Given the description of an element on the screen output the (x, y) to click on. 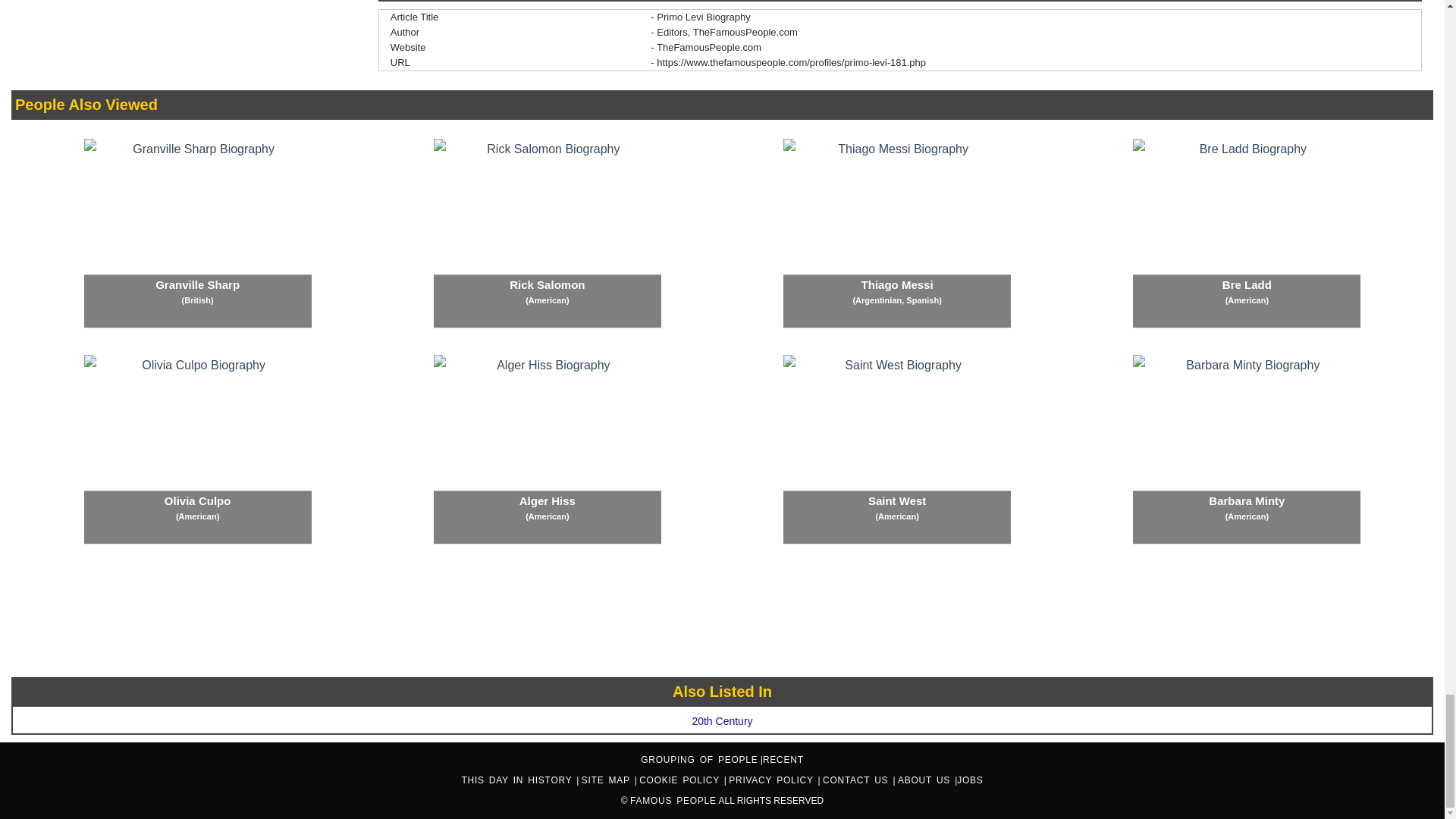
Olivia Culpo (197, 449)
Granville Sharp (197, 233)
Barbara Minty (1245, 449)
Bre Ladd (1245, 233)
Alger Hiss (547, 449)
Saint West (896, 449)
Thiago Messi (896, 233)
Rick Salomon (547, 233)
